Given the description of an element on the screen output the (x, y) to click on. 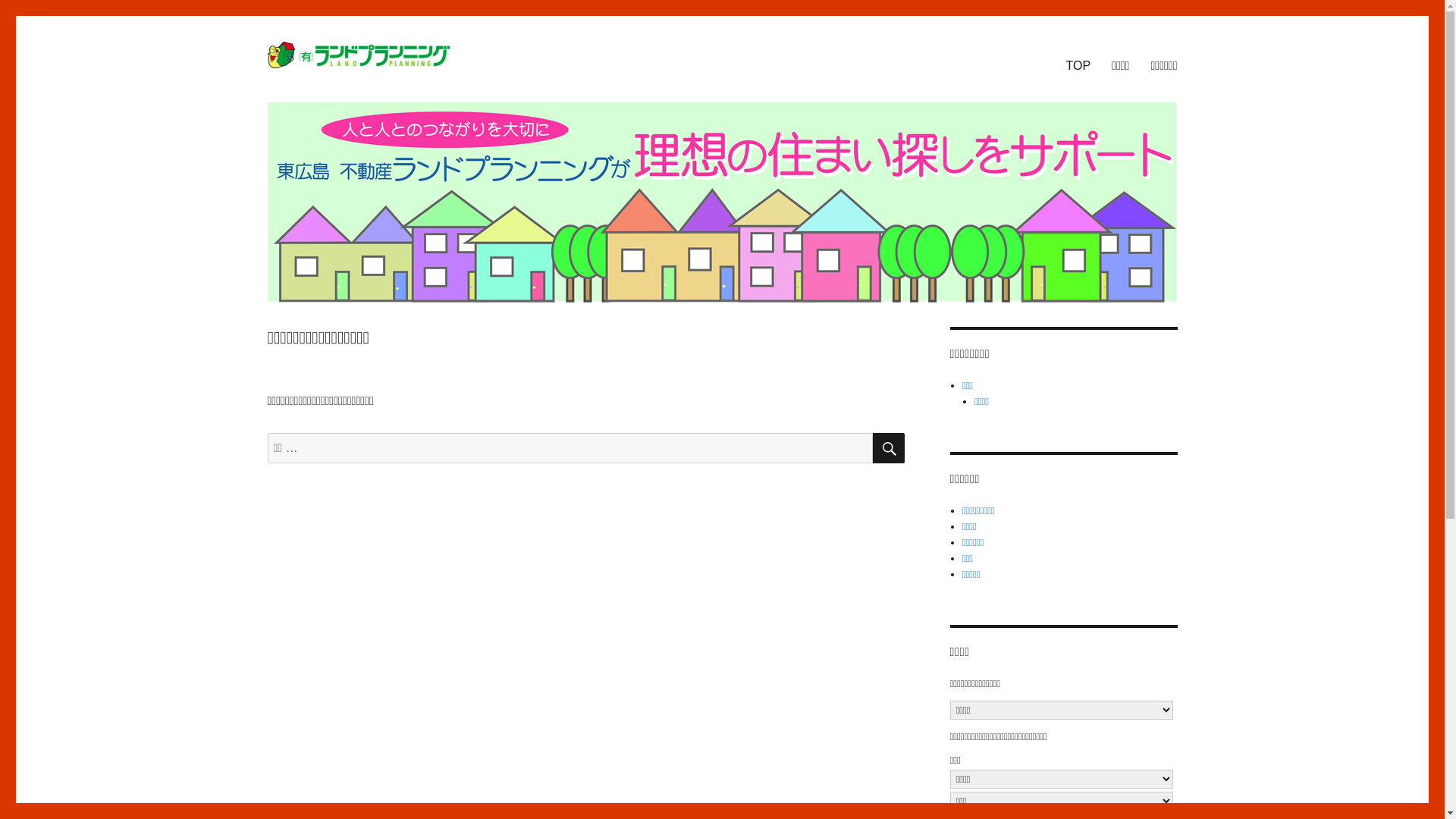
TOP Element type: text (1077, 65)
